Given the description of an element on the screen output the (x, y) to click on. 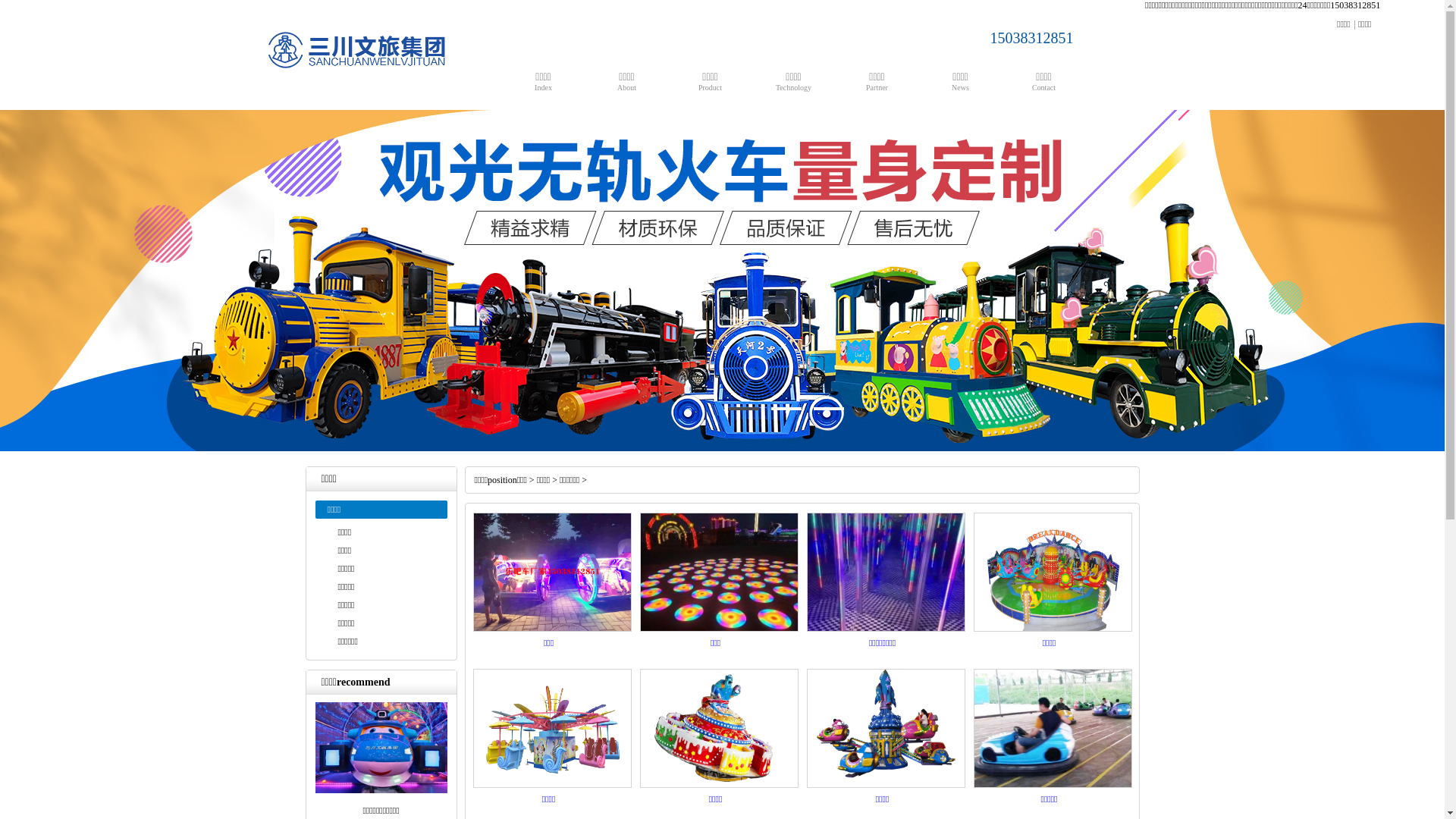
15038312851 Element type: text (1012, 38)
